Given the description of an element on the screen output the (x, y) to click on. 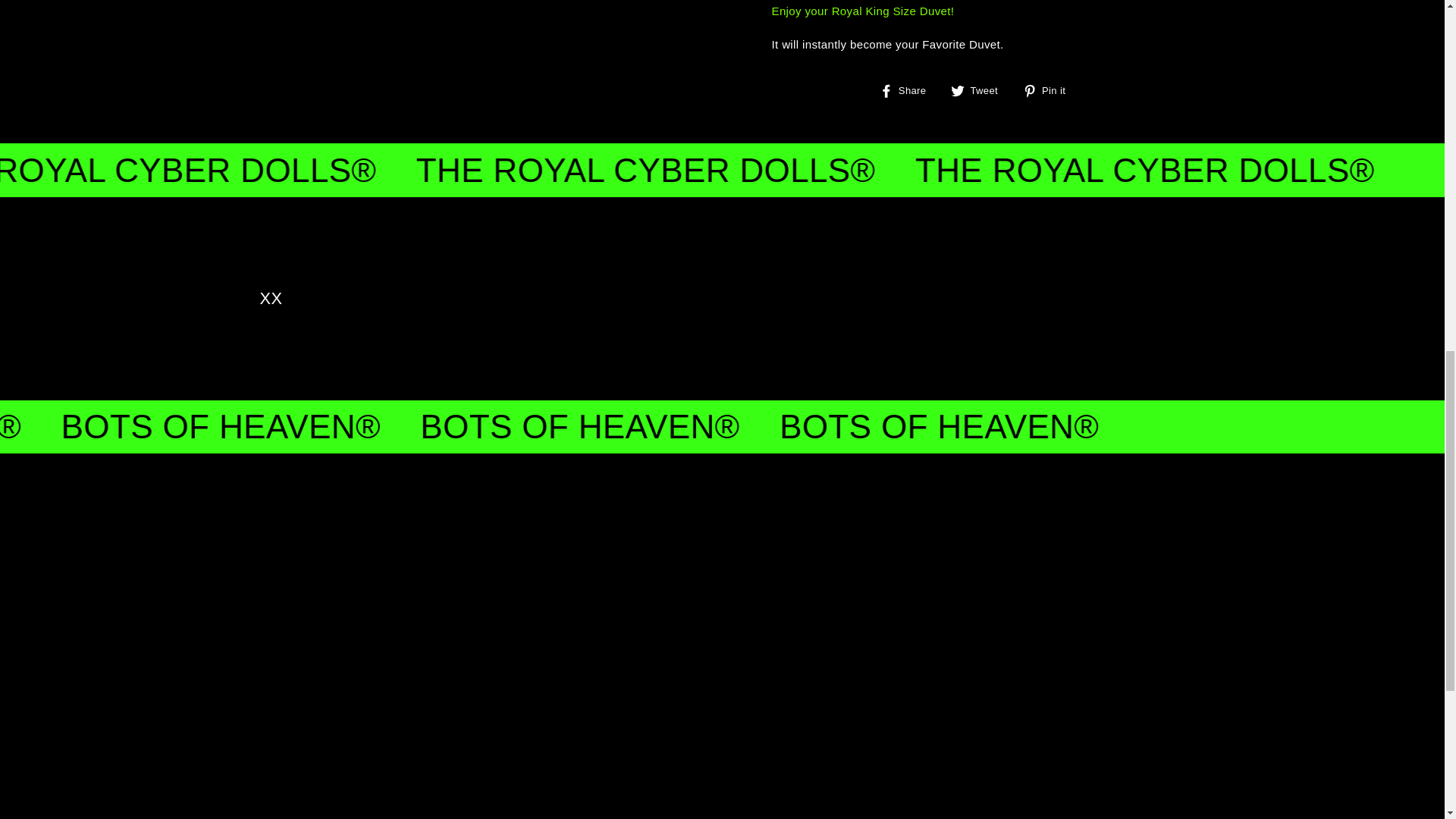
Tweet on Twitter (979, 90)
Pin on Pinterest (1050, 90)
Share on Facebook (908, 90)
